Given the description of an element on the screen output the (x, y) to click on. 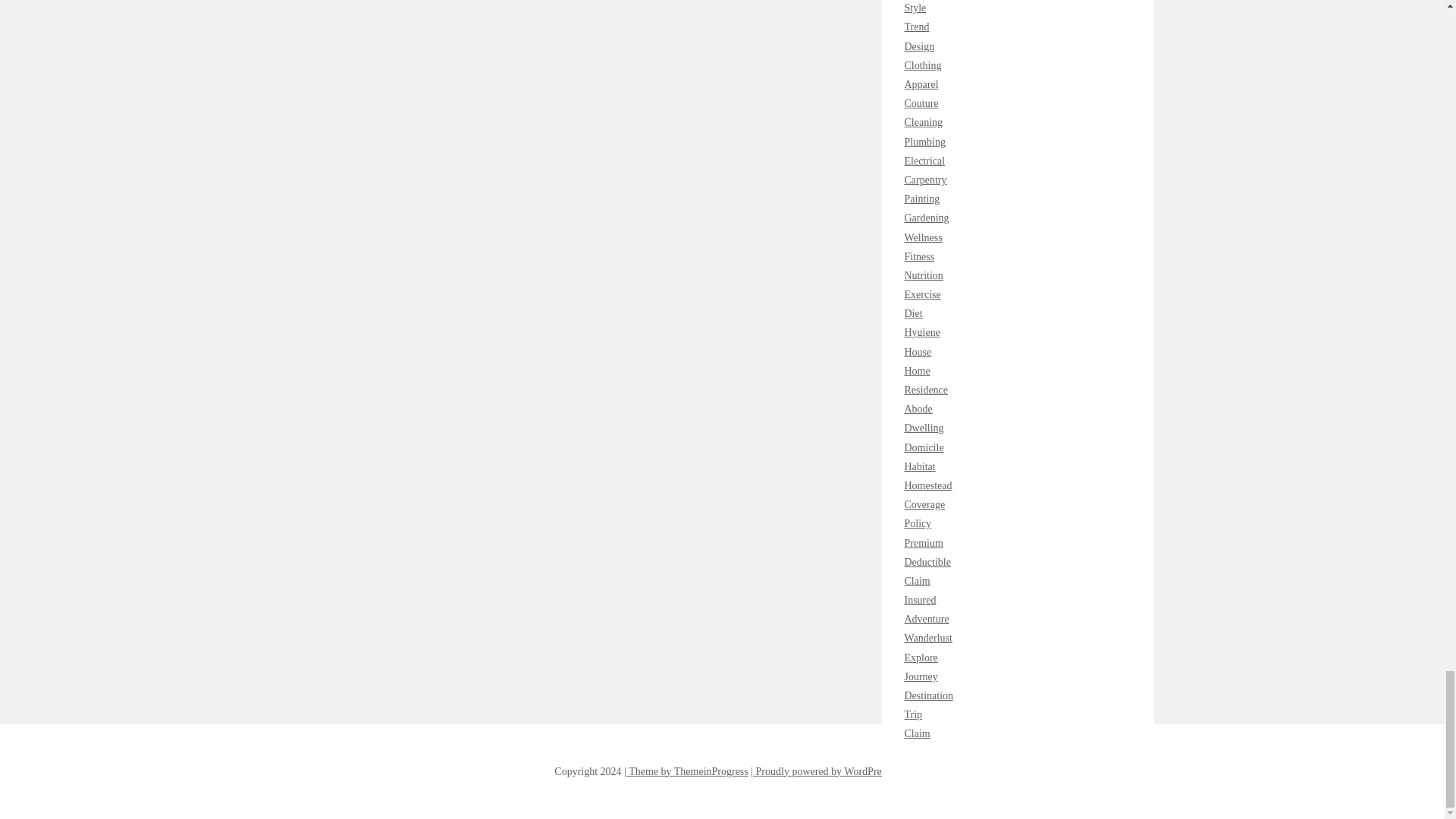
A Semantic Personal Publishing Platform (820, 771)
